Given the description of an element on the screen output the (x, y) to click on. 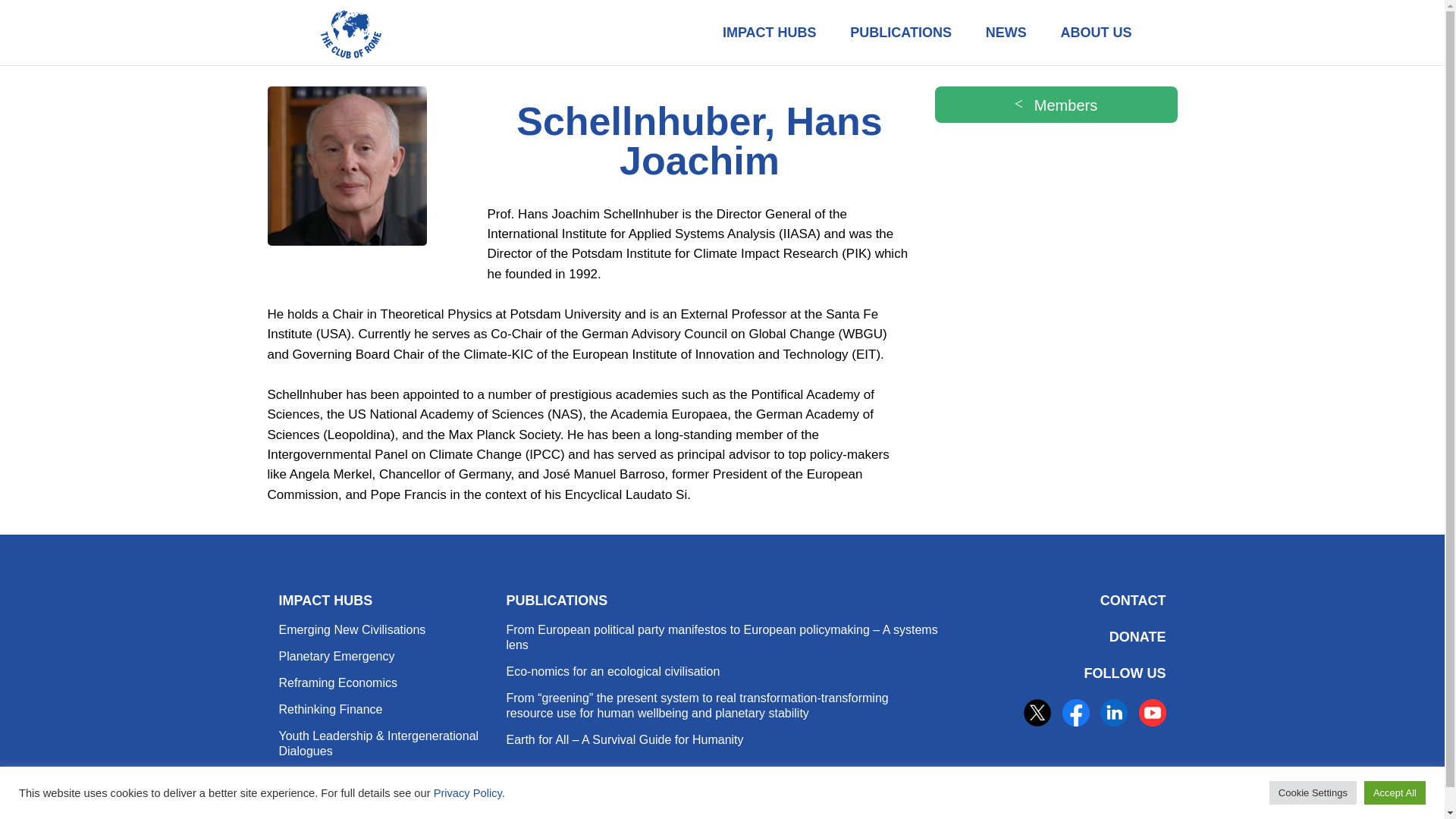
Twitter (1037, 712)
Schellnhuber (346, 165)
IMPACT HUBS (769, 32)
NEWS (1006, 32)
YouTube (1152, 712)
ABOUT US (1096, 32)
Facebook (1075, 712)
PUBLICATIONS (900, 32)
LinkedIn (1113, 712)
